Given the description of an element on the screen output the (x, y) to click on. 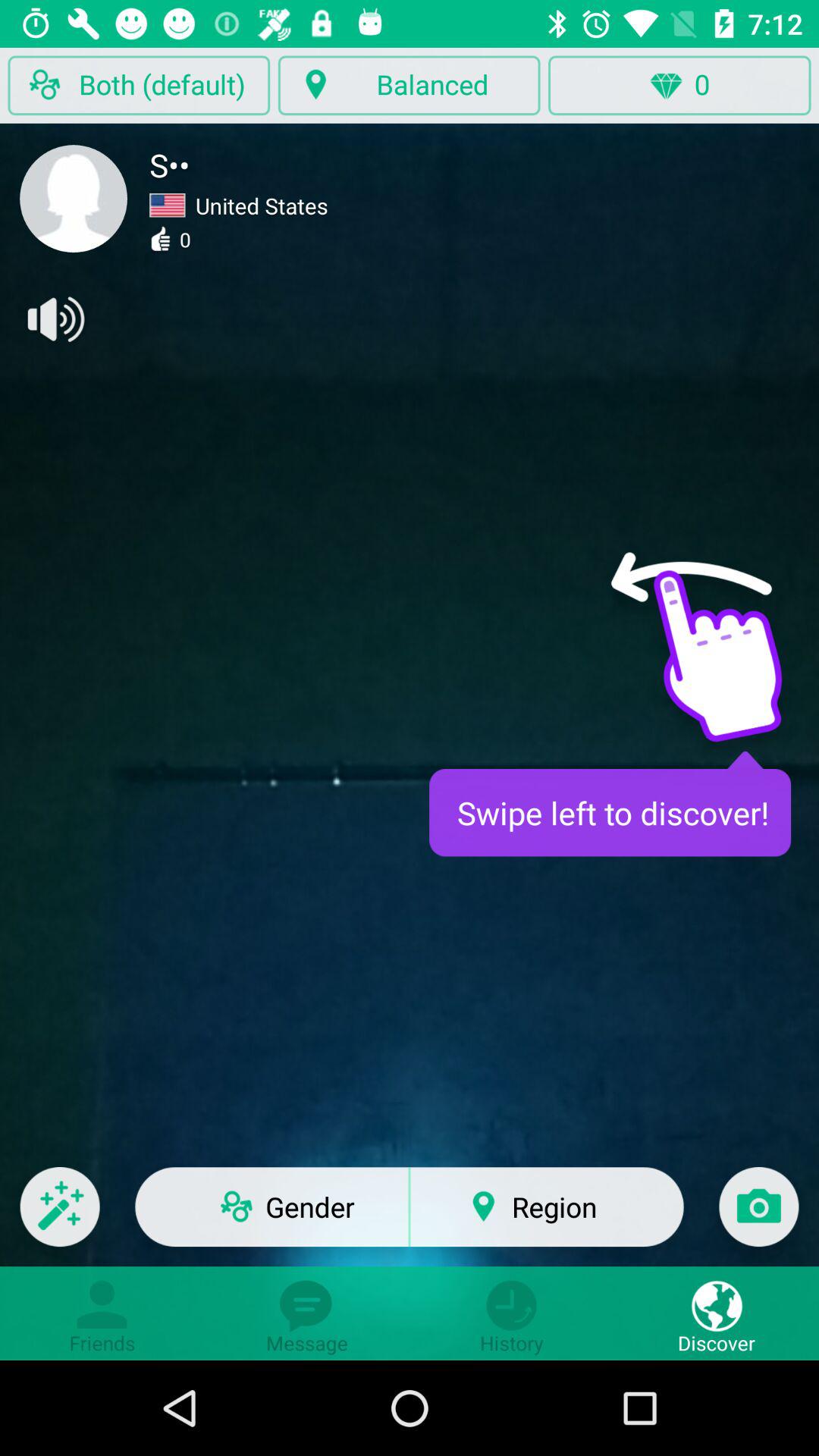
take photo (758, 1216)
